Given the description of an element on the screen output the (x, y) to click on. 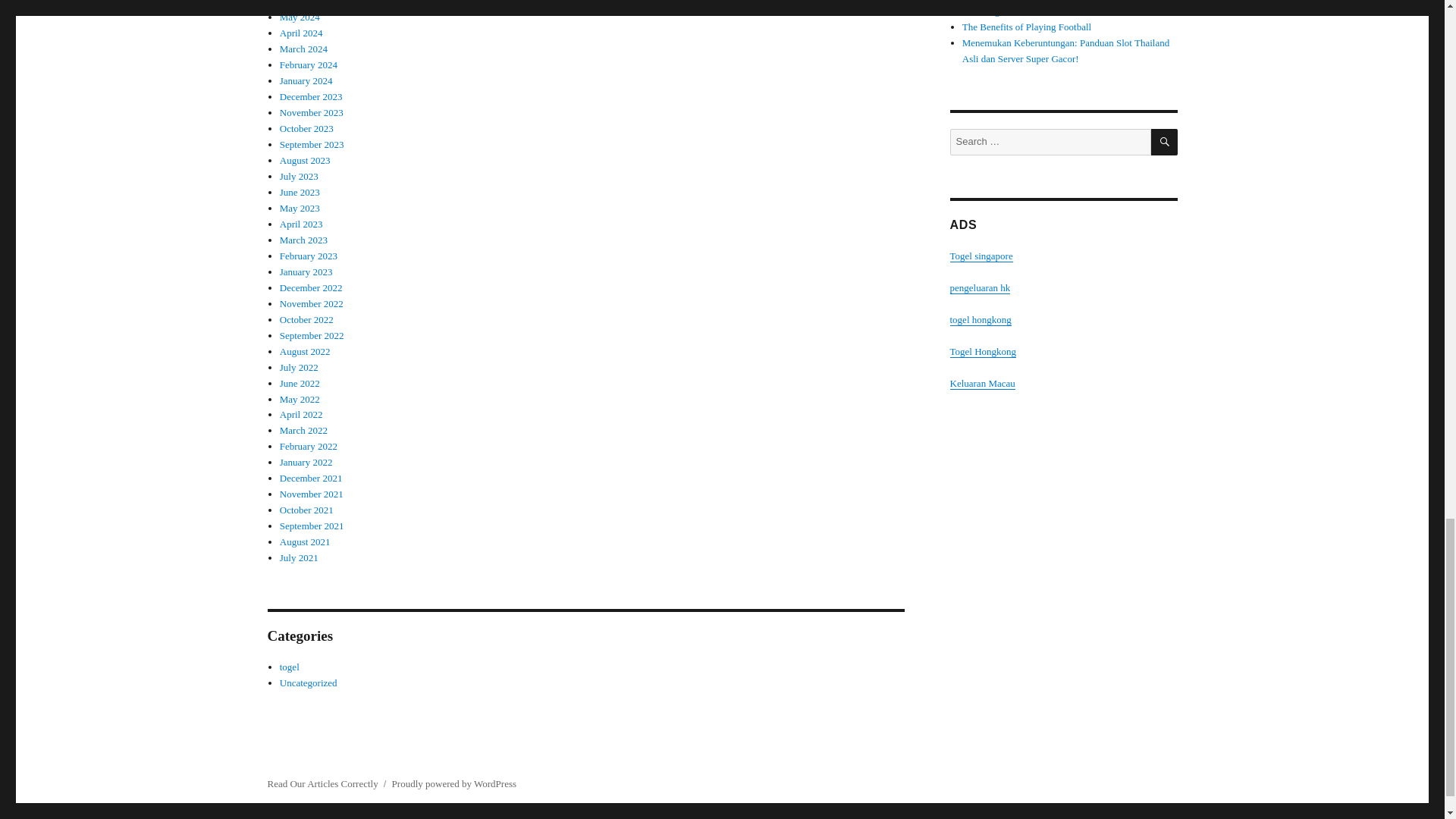
February 2024 (308, 64)
January 2024 (306, 80)
July 2023 (298, 175)
October 2023 (306, 128)
March 2024 (303, 48)
June 2023 (299, 192)
May 2024 (299, 16)
April 2023 (301, 224)
February 2022 (308, 446)
January 2023 (306, 271)
